Given the description of an element on the screen output the (x, y) to click on. 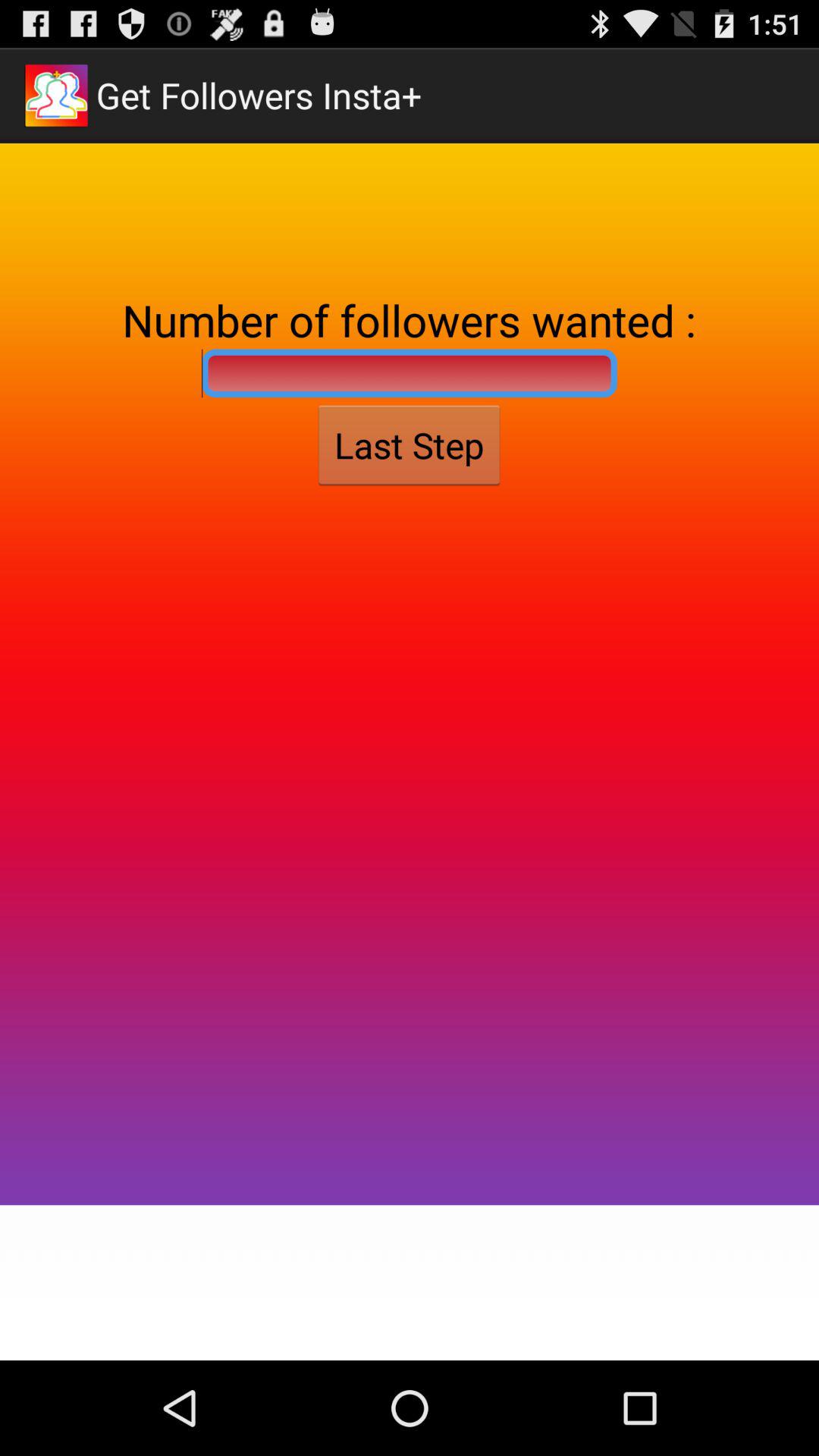
flip to the last step item (408, 445)
